Given the description of an element on the screen output the (x, y) to click on. 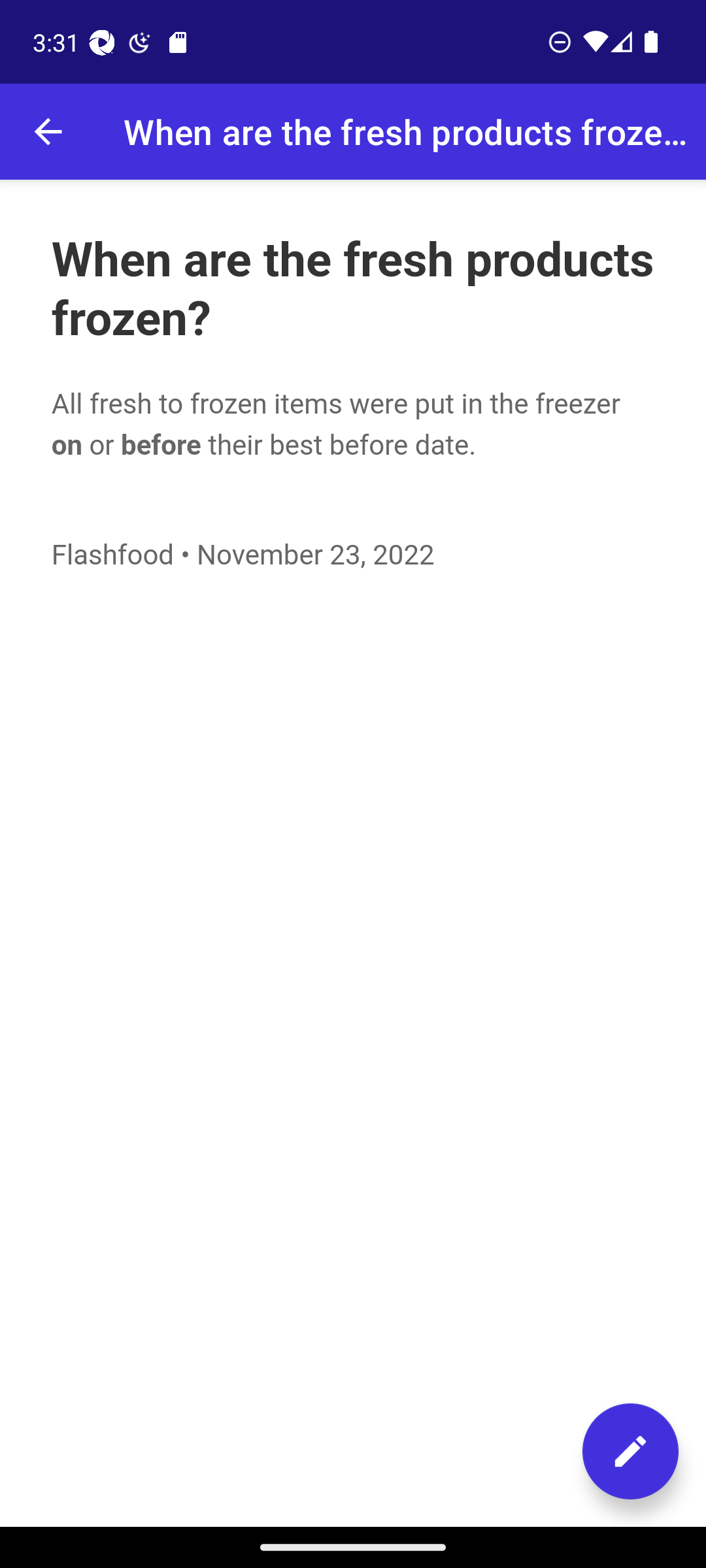
Navigate up (48, 131)
Contact us (630, 1451)
